Given the description of an element on the screen output the (x, y) to click on. 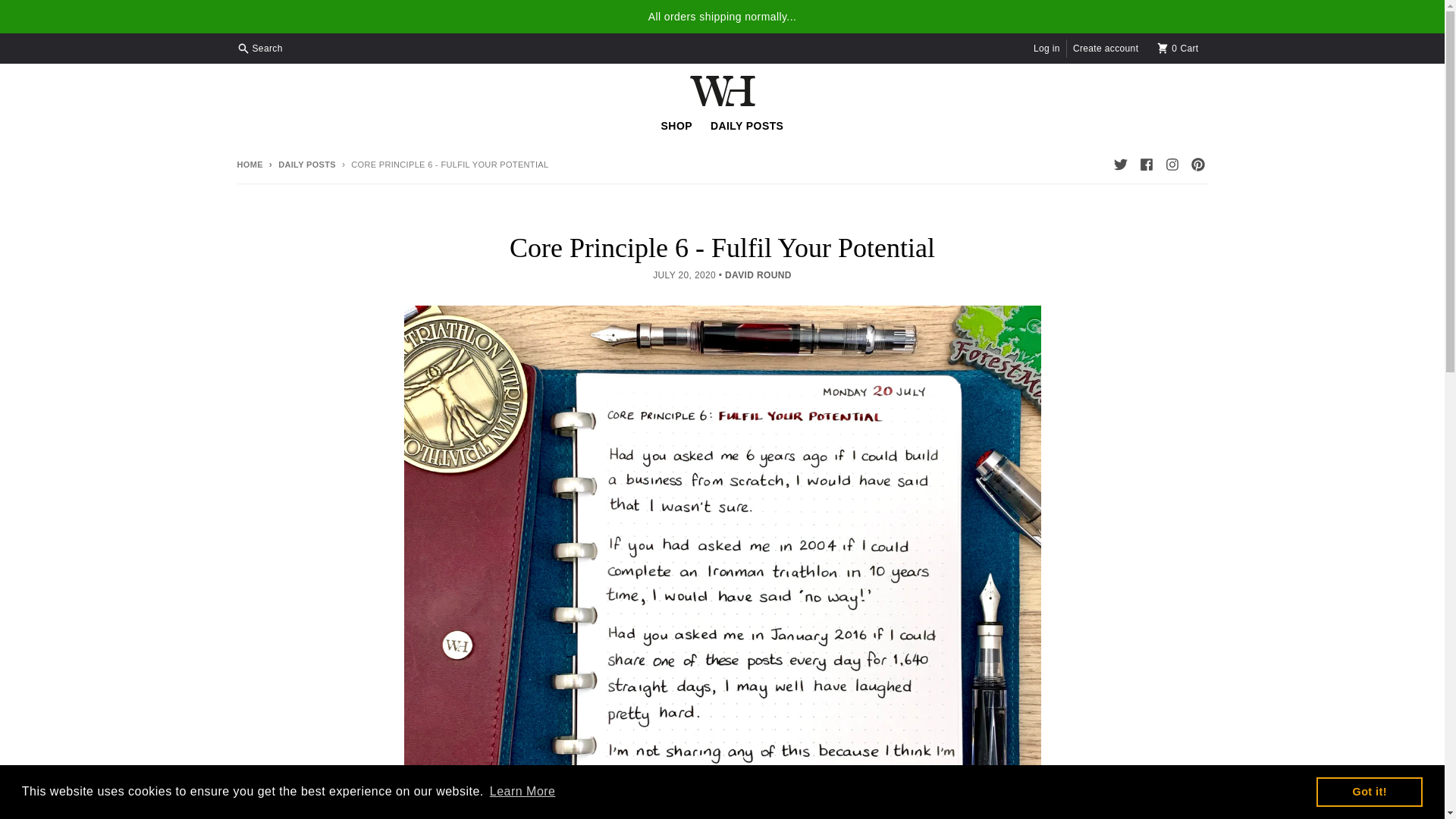
Log in (1046, 48)
Instagram - William Hannah Limited (1170, 164)
Back to the homepage (1178, 48)
SHOP (248, 163)
Search (676, 125)
Pinterest - William Hannah Limited (260, 48)
DAILY POSTS (1197, 164)
Got it! (299, 163)
Learn More (1369, 791)
Facebook - William Hannah Limited (522, 791)
DAILY POSTS (1145, 164)
Twitter - William Hannah Limited (746, 125)
HOME (1119, 164)
Create account (248, 163)
